Given the description of an element on the screen output the (x, y) to click on. 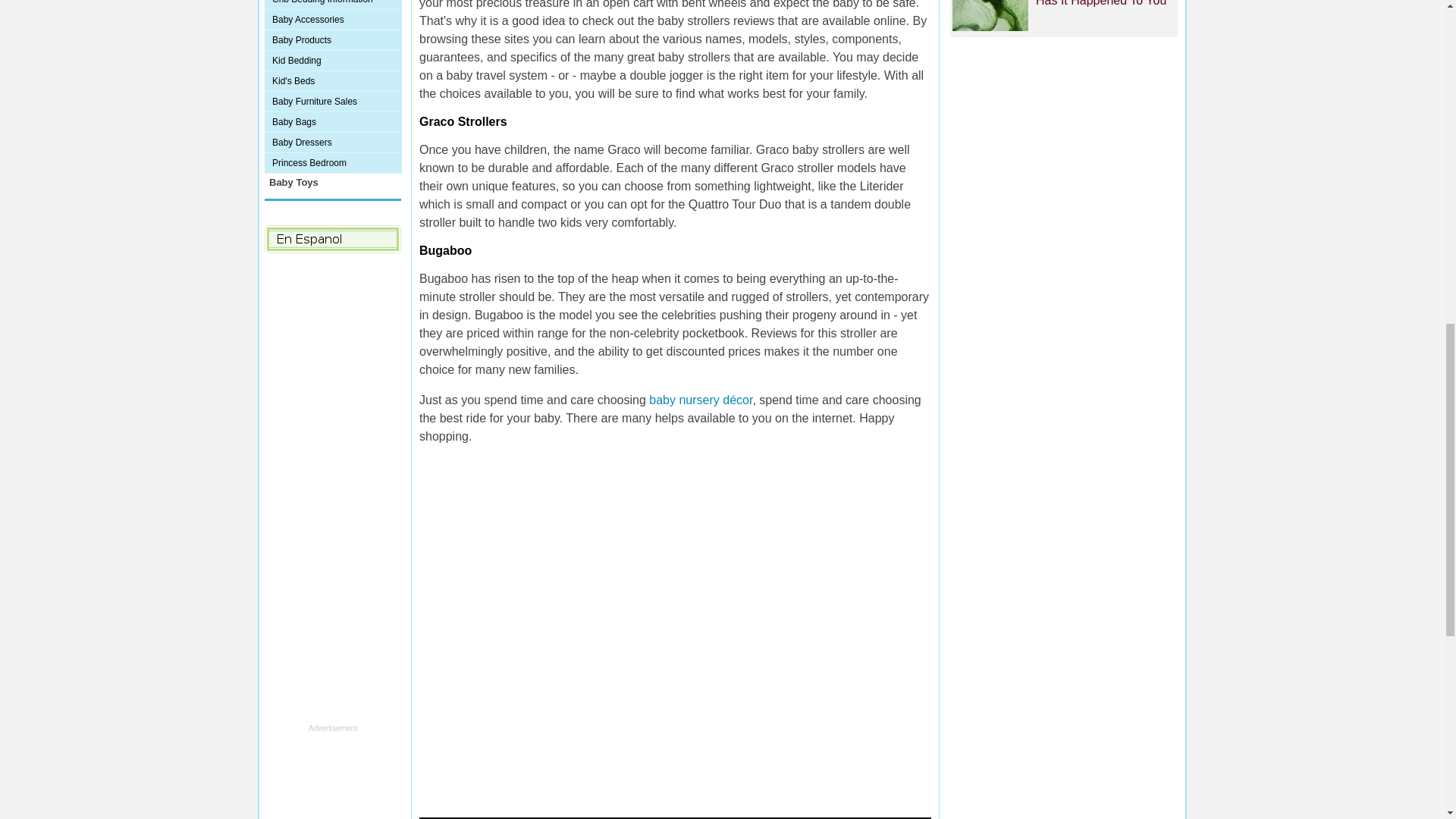
baby nursery decor (699, 399)
